Given the description of an element on the screen output the (x, y) to click on. 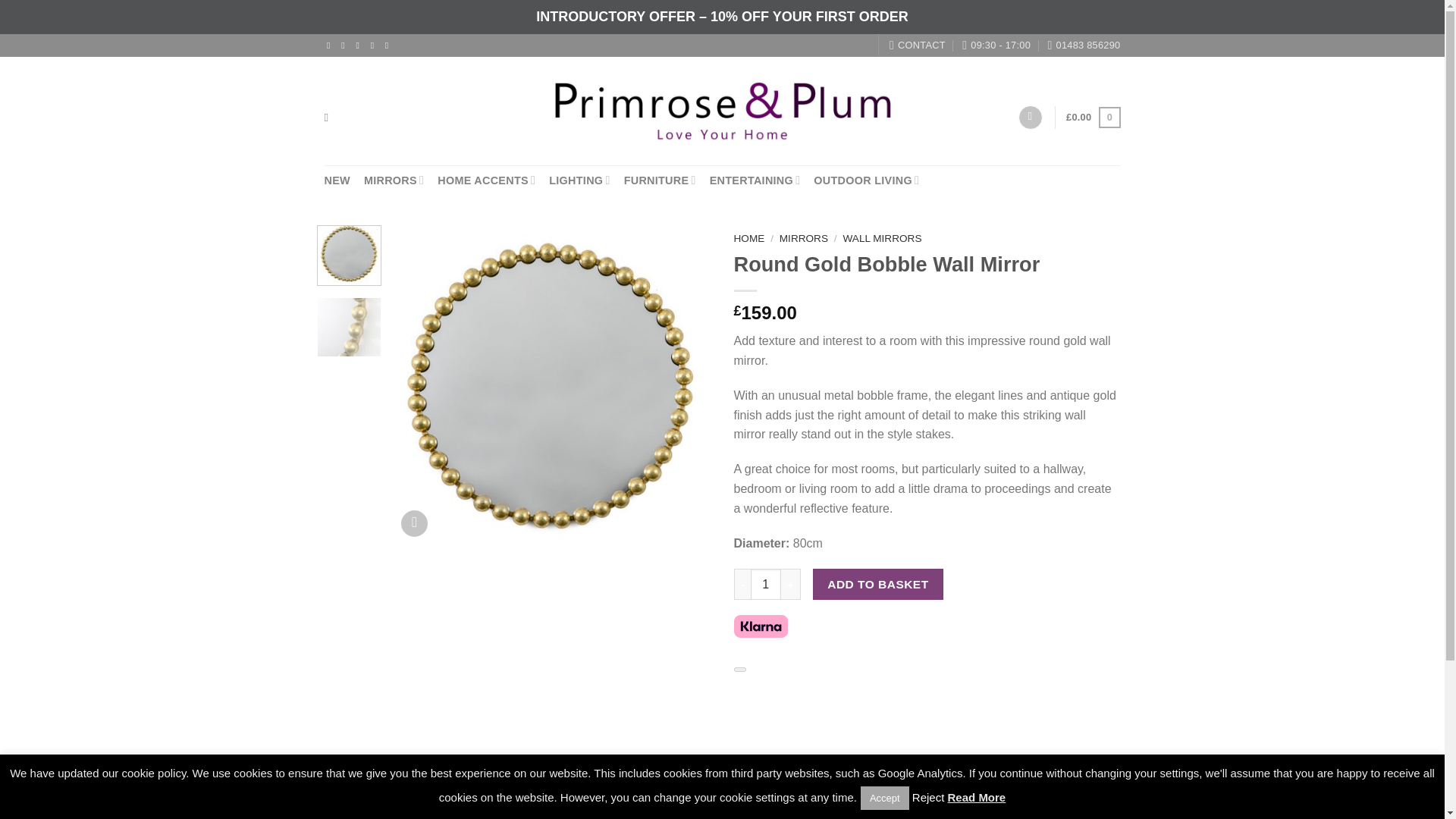
MIRRORS (393, 179)
HOME ACCENTS (486, 179)
CONTACT (916, 45)
NEW (337, 180)
09:30 - 17:00 (996, 45)
01483 856290 (1082, 45)
09:30 - 17:00  (996, 45)
1 (765, 583)
01483 856290 (1082, 45)
